Given the description of an element on the screen output the (x, y) to click on. 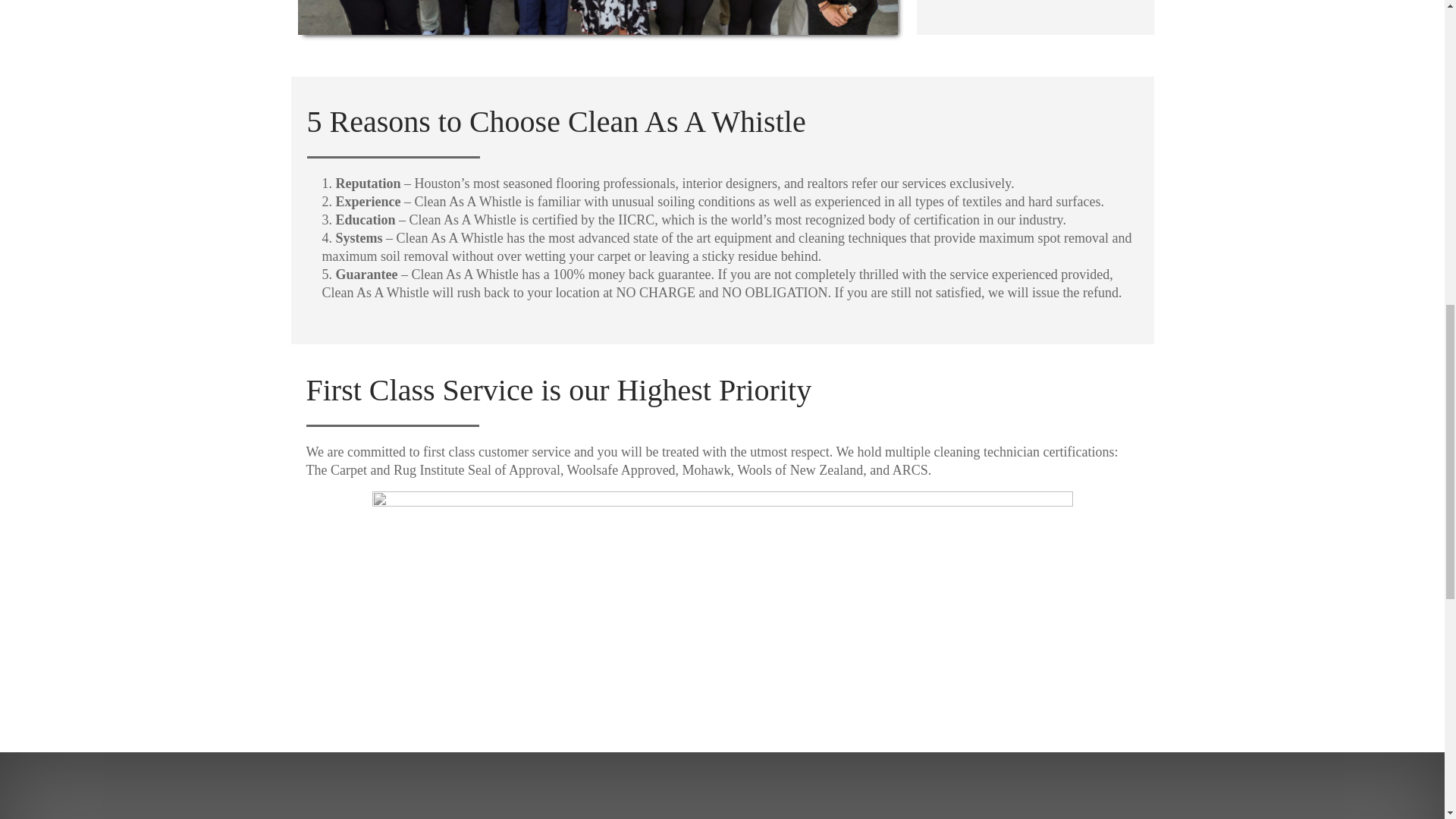
2021 whole company photo (597, 18)
